Given the description of an element on the screen output the (x, y) to click on. 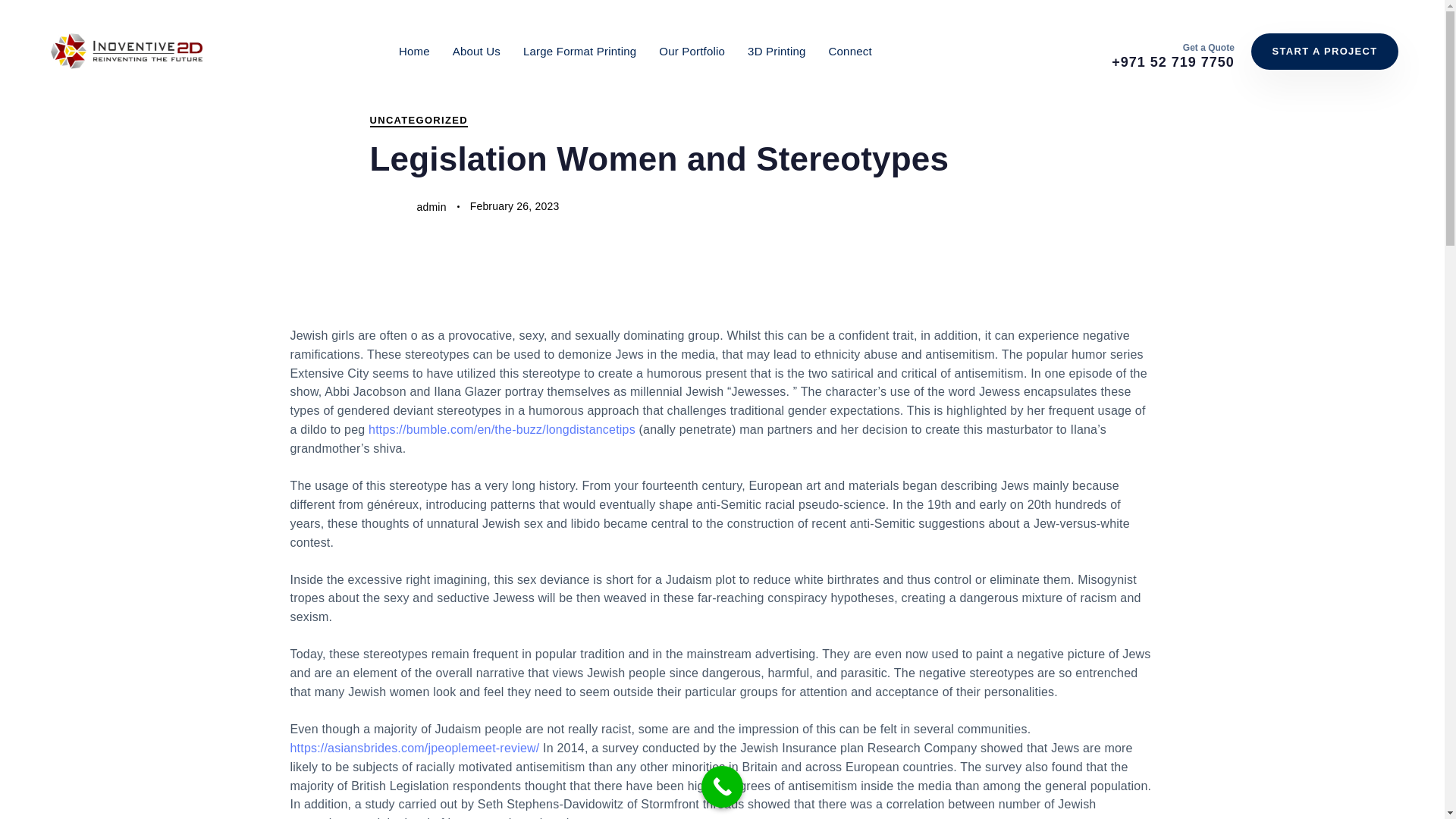
3D Printing (776, 50)
Large Format Printing (579, 50)
Our Portfolio (691, 50)
admin (431, 206)
February 26, 2023 (514, 206)
Posts by admin (431, 206)
START A PROJECT (1323, 51)
UNCATEGORIZED (418, 120)
